Given the description of an element on the screen output the (x, y) to click on. 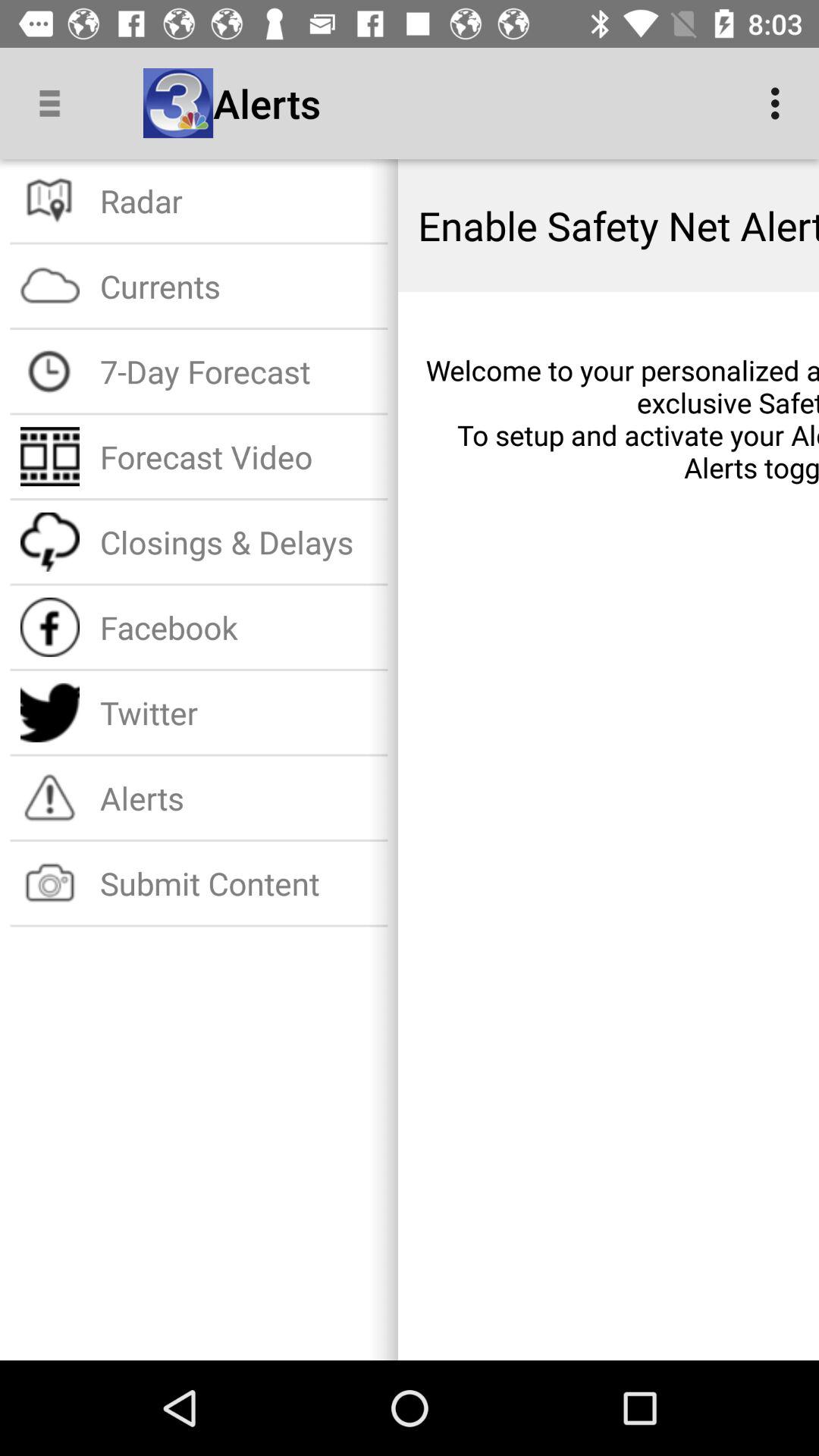
press icon above facebook (238, 541)
